Given the description of an element on the screen output the (x, y) to click on. 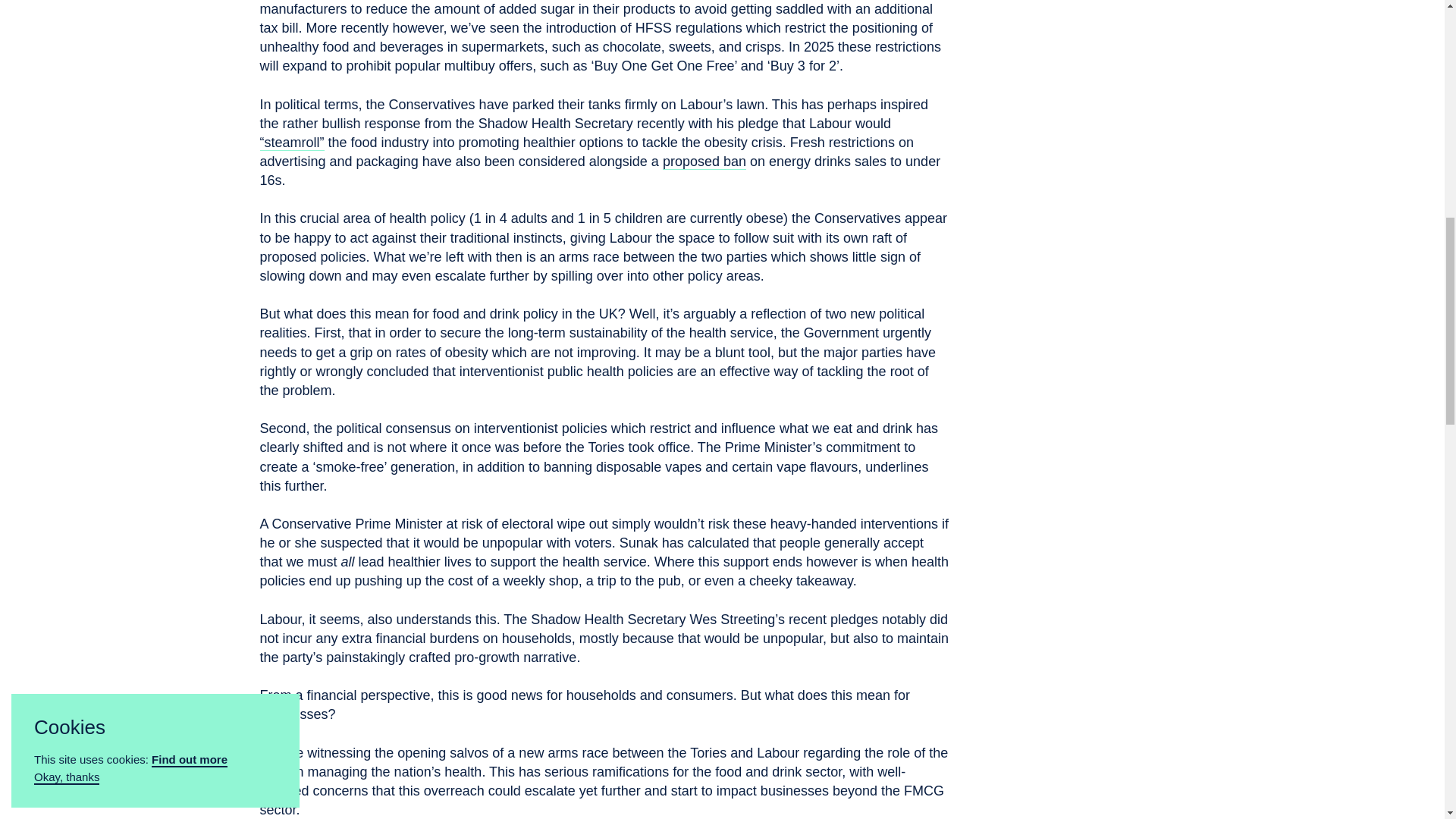
proposed ban (703, 191)
